Given the description of an element on the screen output the (x, y) to click on. 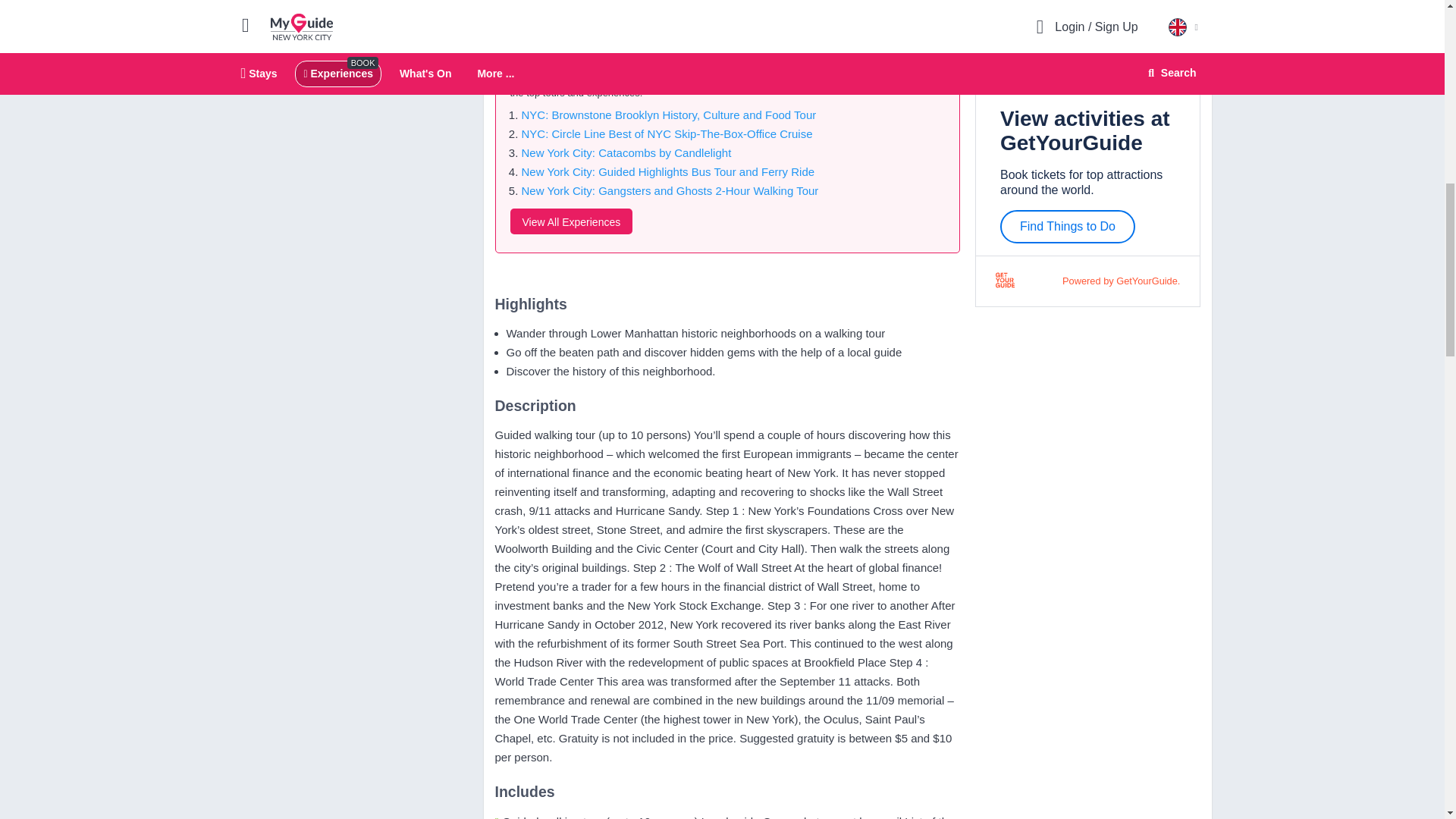
GetYourGuide Widget (346, 25)
View All Experiences (570, 221)
